Given the description of an element on the screen output the (x, y) to click on. 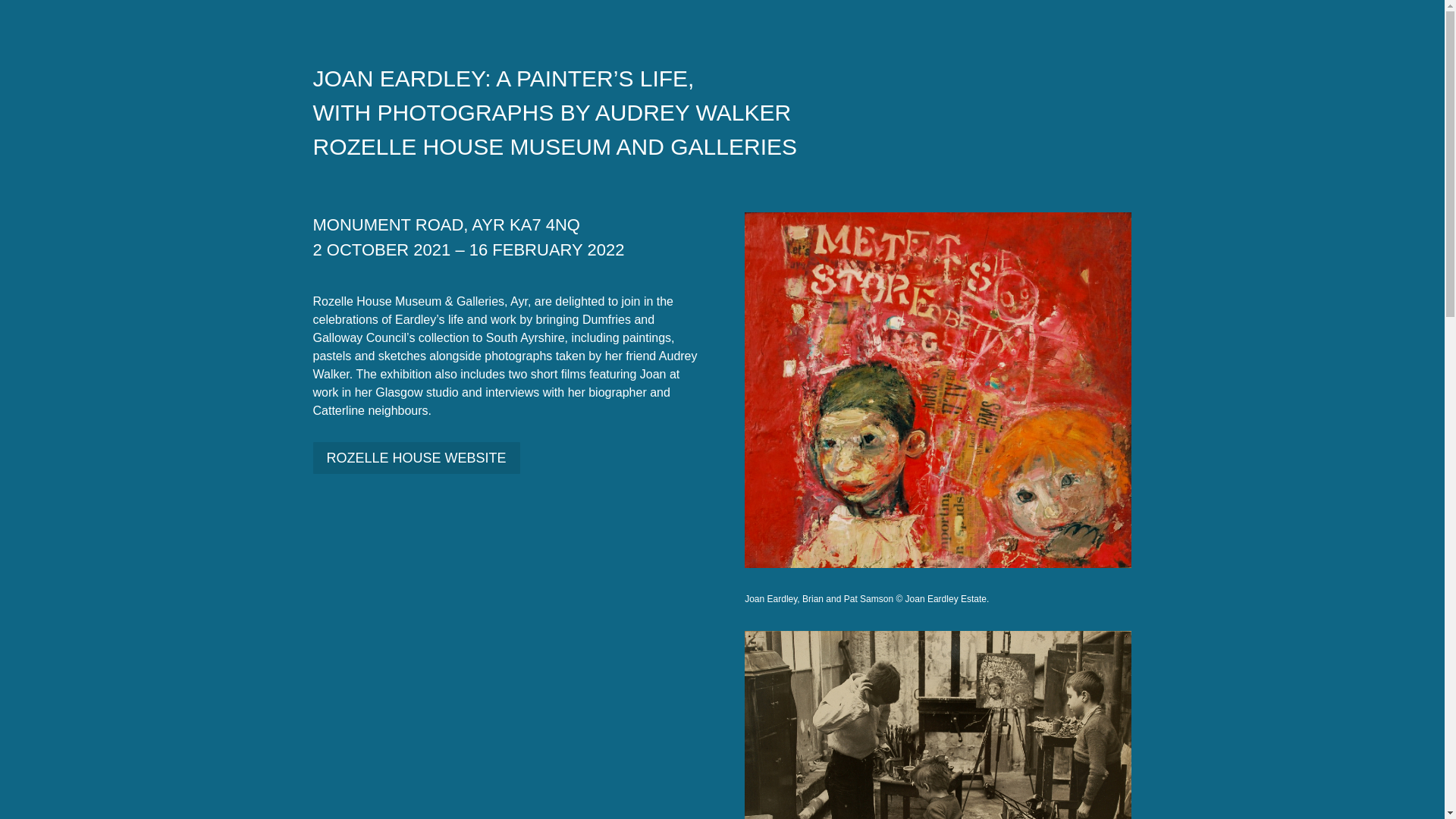
Girl with a Poke of Chips, oil on canvas with newspaper. (937, 567)
Page 2 (505, 241)
Page 1 (722, 116)
ROZELLE HOUSE WEBSITE (416, 457)
